Given the description of an element on the screen output the (x, y) to click on. 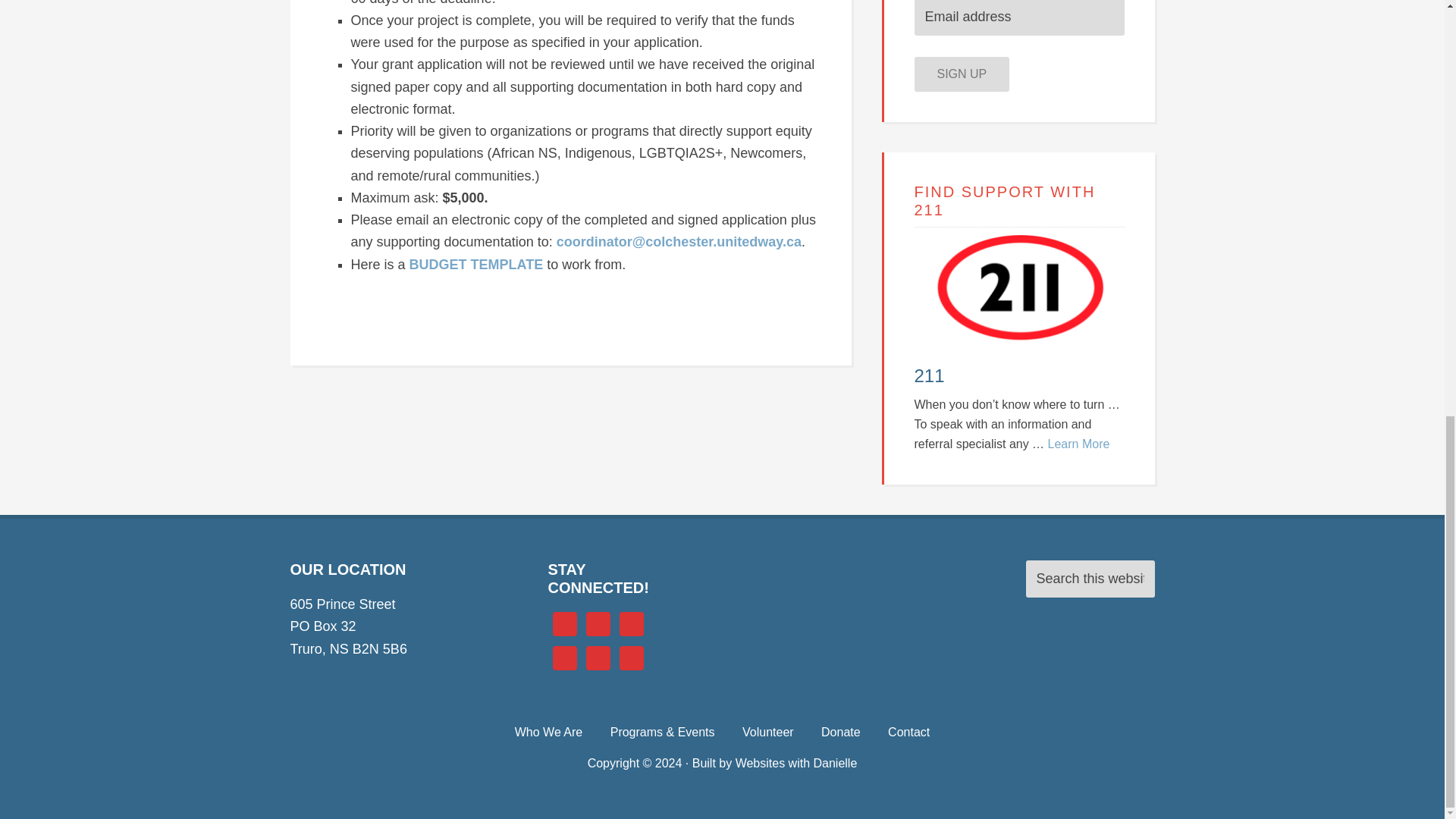
BUDGET TEMPLATE (476, 264)
Sign up (962, 73)
Sign up (962, 73)
